Given the description of an element on the screen output the (x, y) to click on. 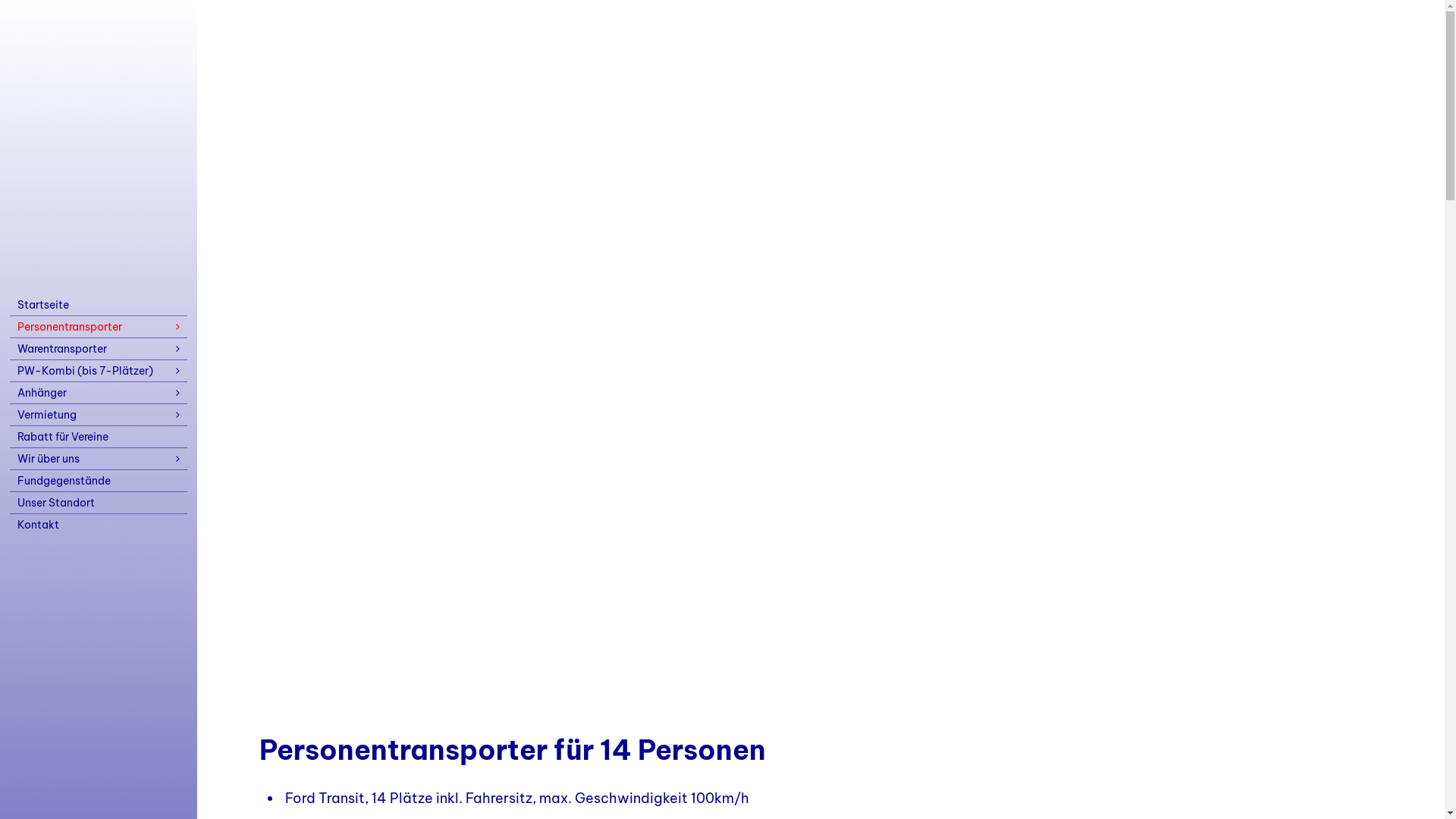
Kontakt Element type: text (98, 524)
Unser Standort Element type: text (98, 502)
Personentransporter Element type: text (98, 326)
Warentransporter Element type: text (98, 348)
Startseite Element type: text (98, 304)
Vermietung Element type: text (98, 414)
